Given the description of an element on the screen output the (x, y) to click on. 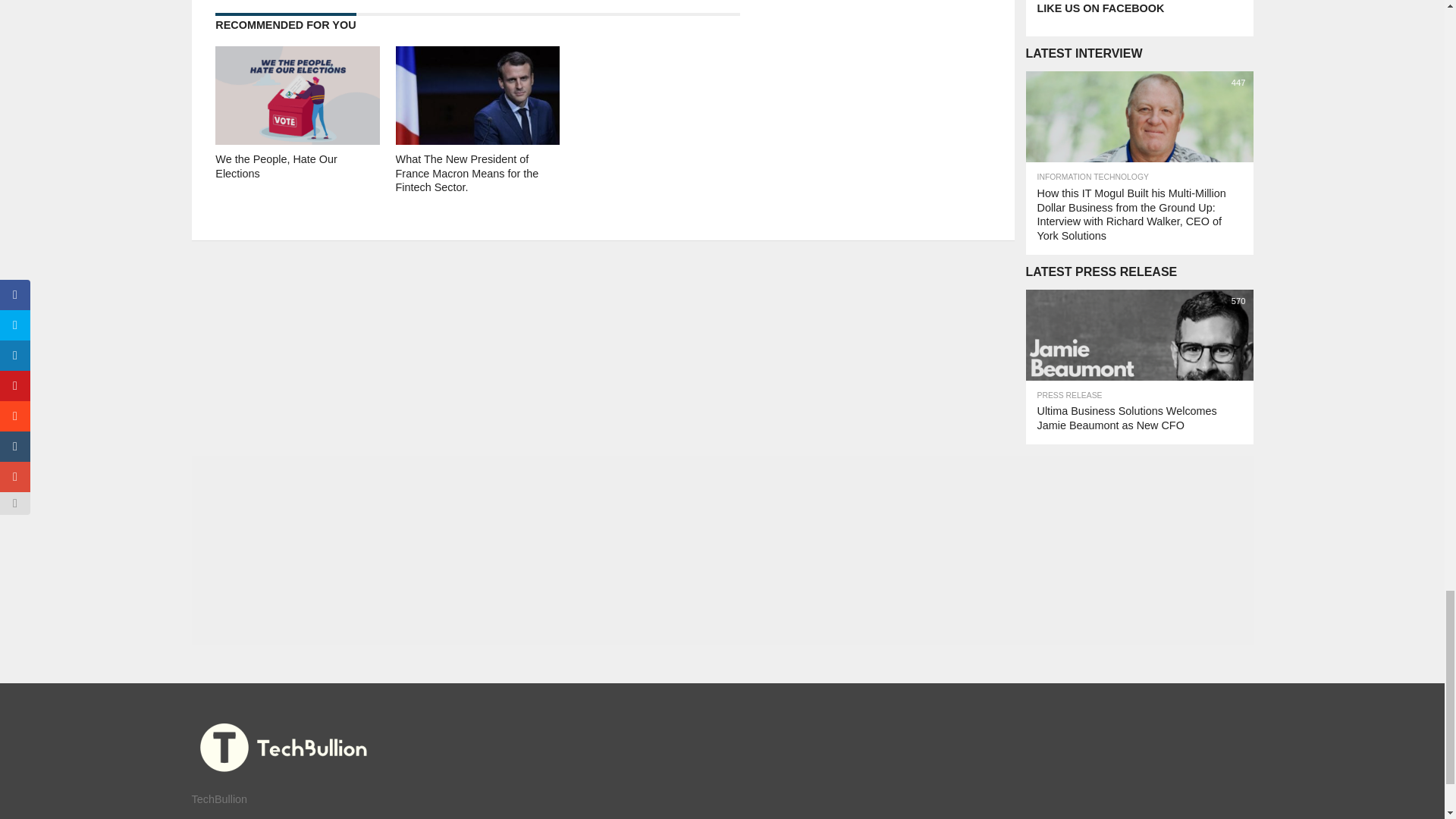
We the People, Hate Our Elections (297, 140)
